Given the description of an element on the screen output the (x, y) to click on. 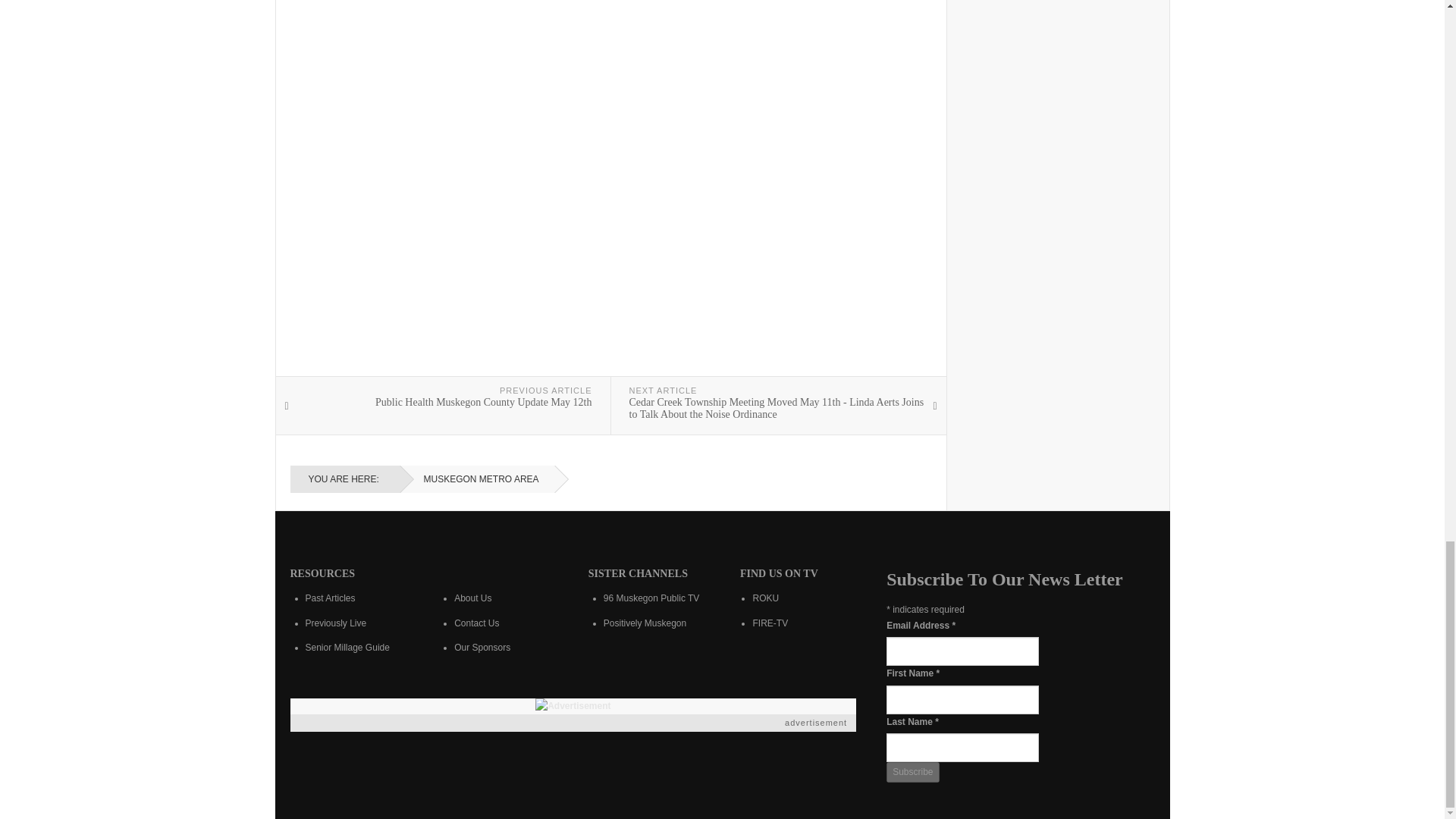
Subscribe (912, 772)
